Given the description of an element on the screen output the (x, y) to click on. 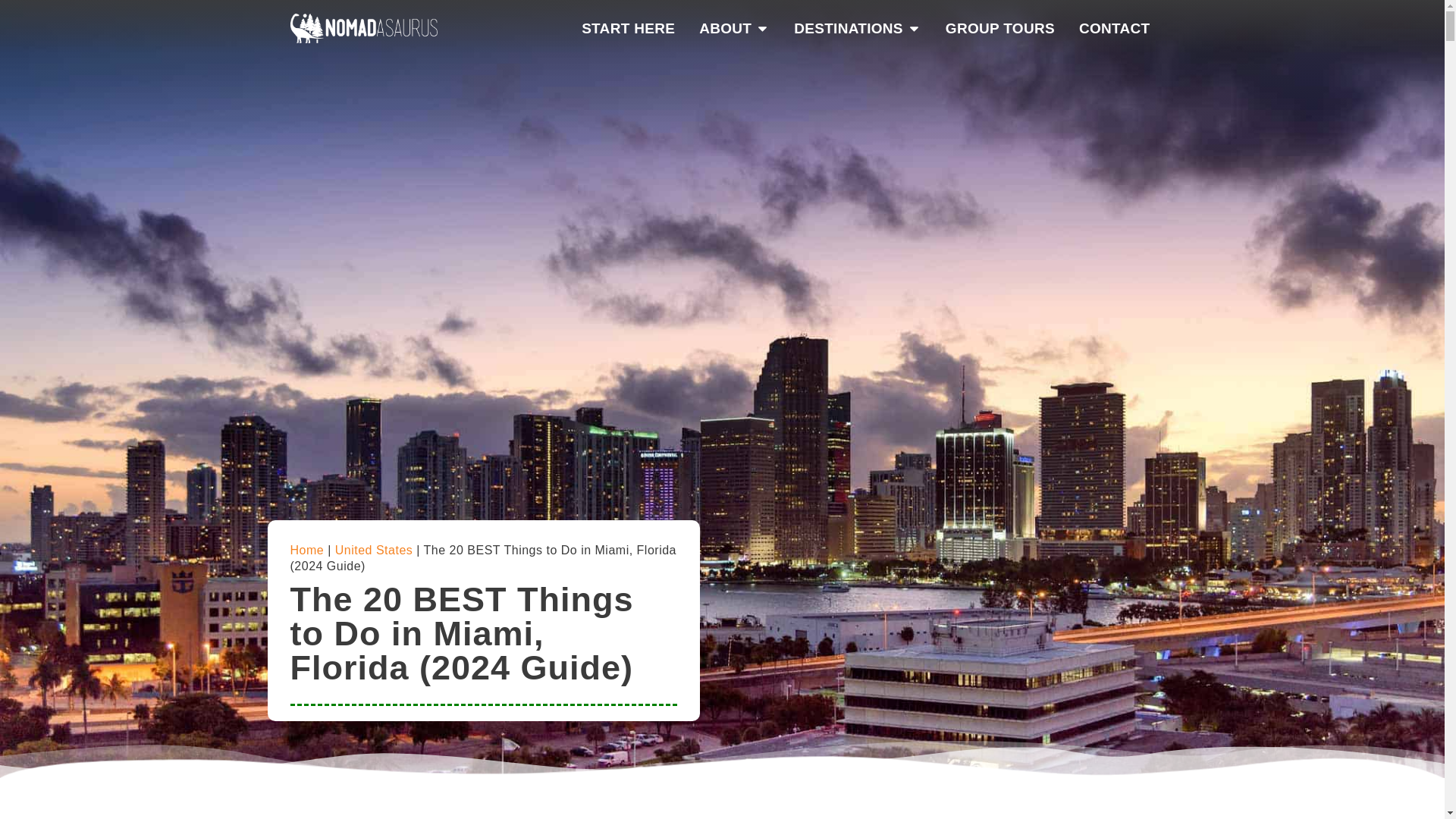
ABOUT (724, 29)
START HERE (627, 29)
DESTINATIONS (847, 29)
